Given the description of an element on the screen output the (x, y) to click on. 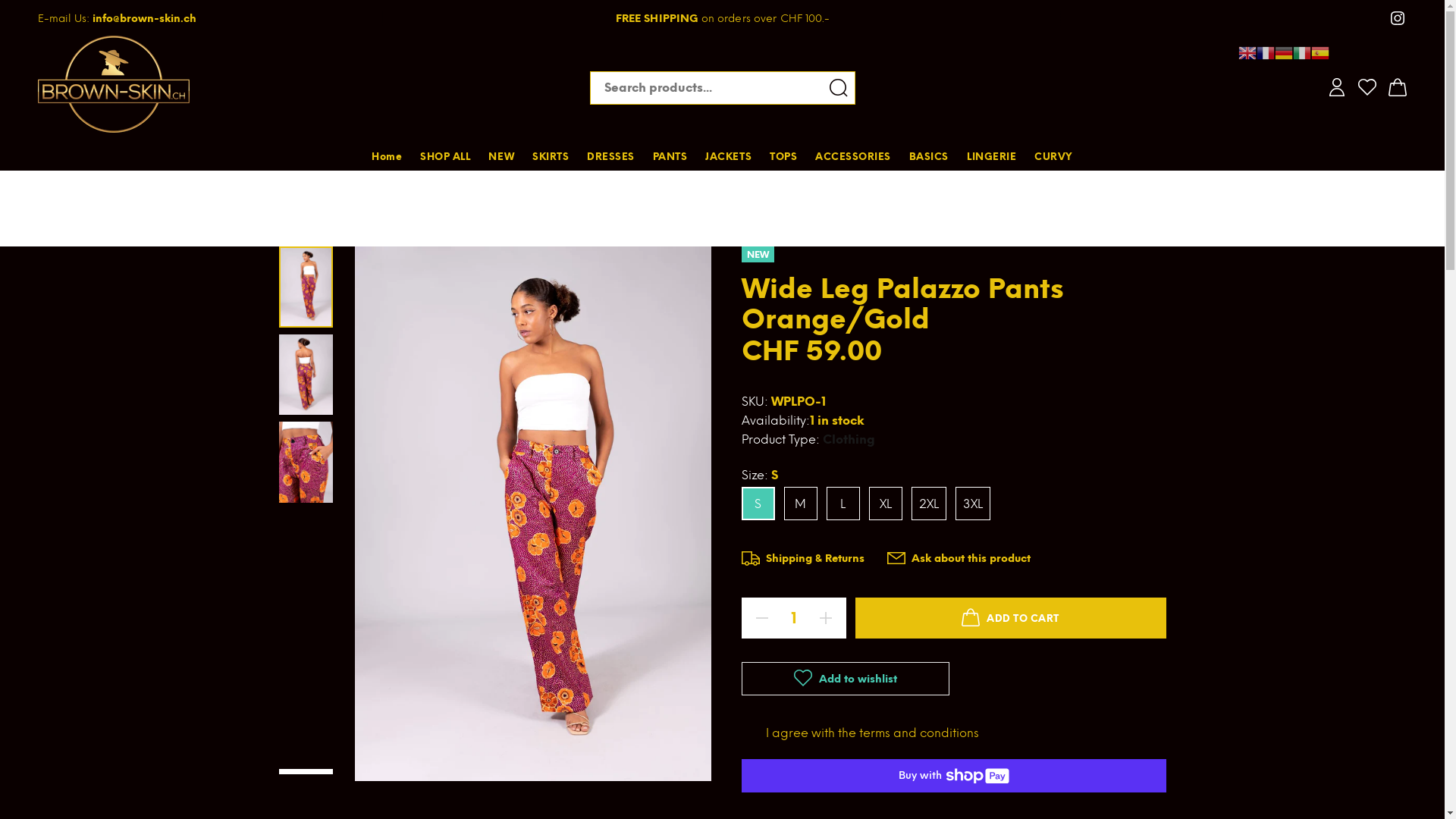
Add to wishlist Element type: text (845, 678)
Home Element type: text (391, 156)
L Element type: text (842, 503)
Italian Element type: hover (1301, 51)
Shipping & Returns Element type: text (802, 559)
TOPS Element type: text (783, 156)
ADD TO CART Element type: text (1010, 617)
SHOP ALL Element type: text (445, 156)
DRESSES Element type: text (610, 156)
French Element type: hover (1265, 51)
Ask about this product Element type: text (958, 559)
2XL Element type: text (928, 503)
CURVY Element type: text (1049, 156)
German Element type: hover (1283, 51)
ACCESSORIES Element type: text (853, 156)
3XL Element type: text (972, 503)
BASICS Element type: text (928, 156)
English Element type: hover (1247, 51)
PANTS Element type: text (669, 156)
S Element type: text (758, 503)
XL Element type: text (885, 503)
JACKETS Element type: text (728, 156)
LINGERIE Element type: text (991, 156)
Clothing Element type: text (848, 439)
M Element type: text (800, 503)
SKIRTS Element type: text (550, 156)
NEW Element type: text (501, 156)
Spanish Element type: hover (1320, 51)
